Given the description of an element on the screen output the (x, y) to click on. 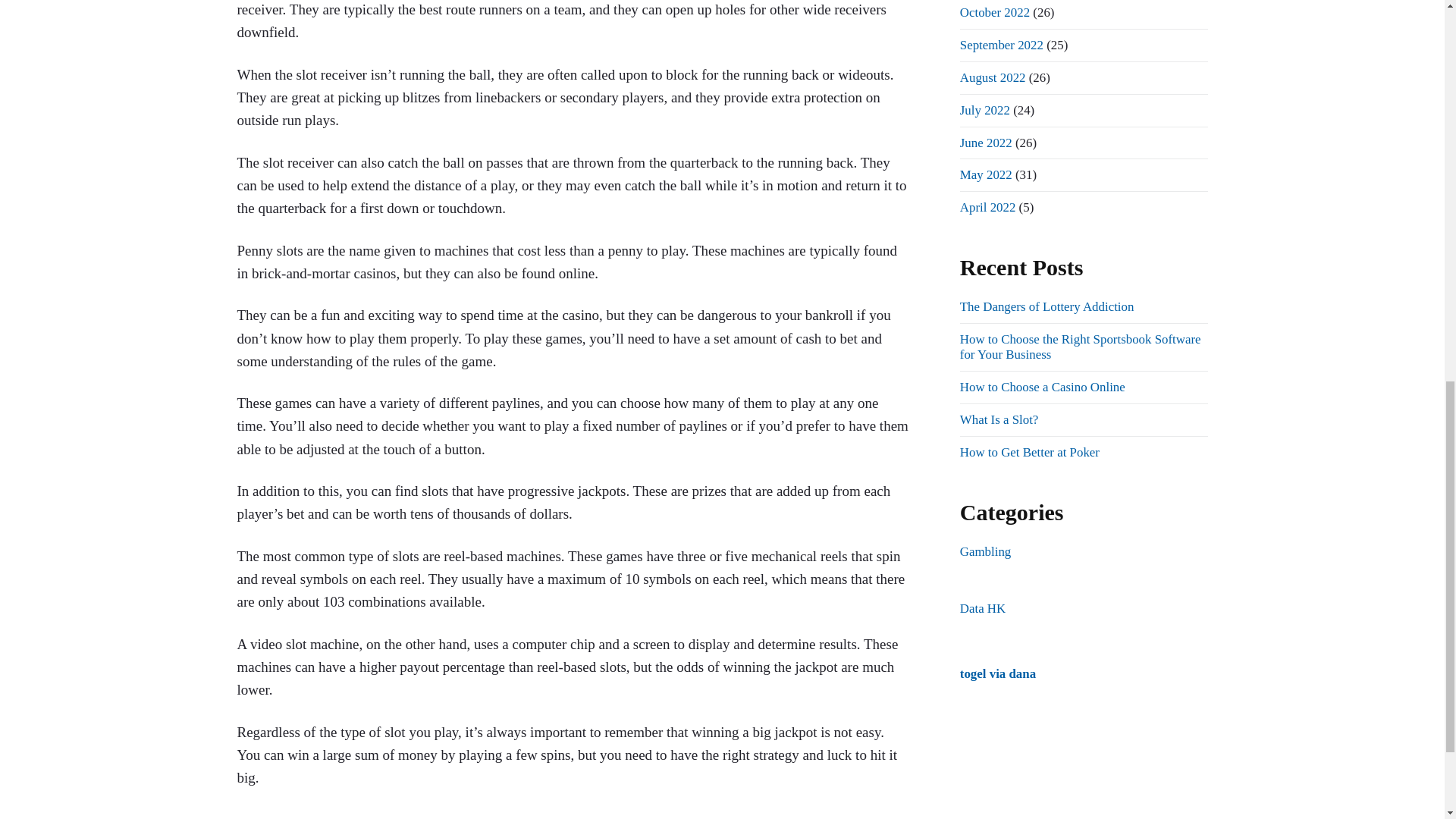
July 2022 (984, 110)
April 2022 (987, 206)
August 2022 (992, 77)
October 2022 (994, 11)
May 2022 (985, 174)
The Dangers of Lottery Addiction (1046, 306)
June 2022 (985, 142)
September 2022 (1001, 44)
